Given the description of an element on the screen output the (x, y) to click on. 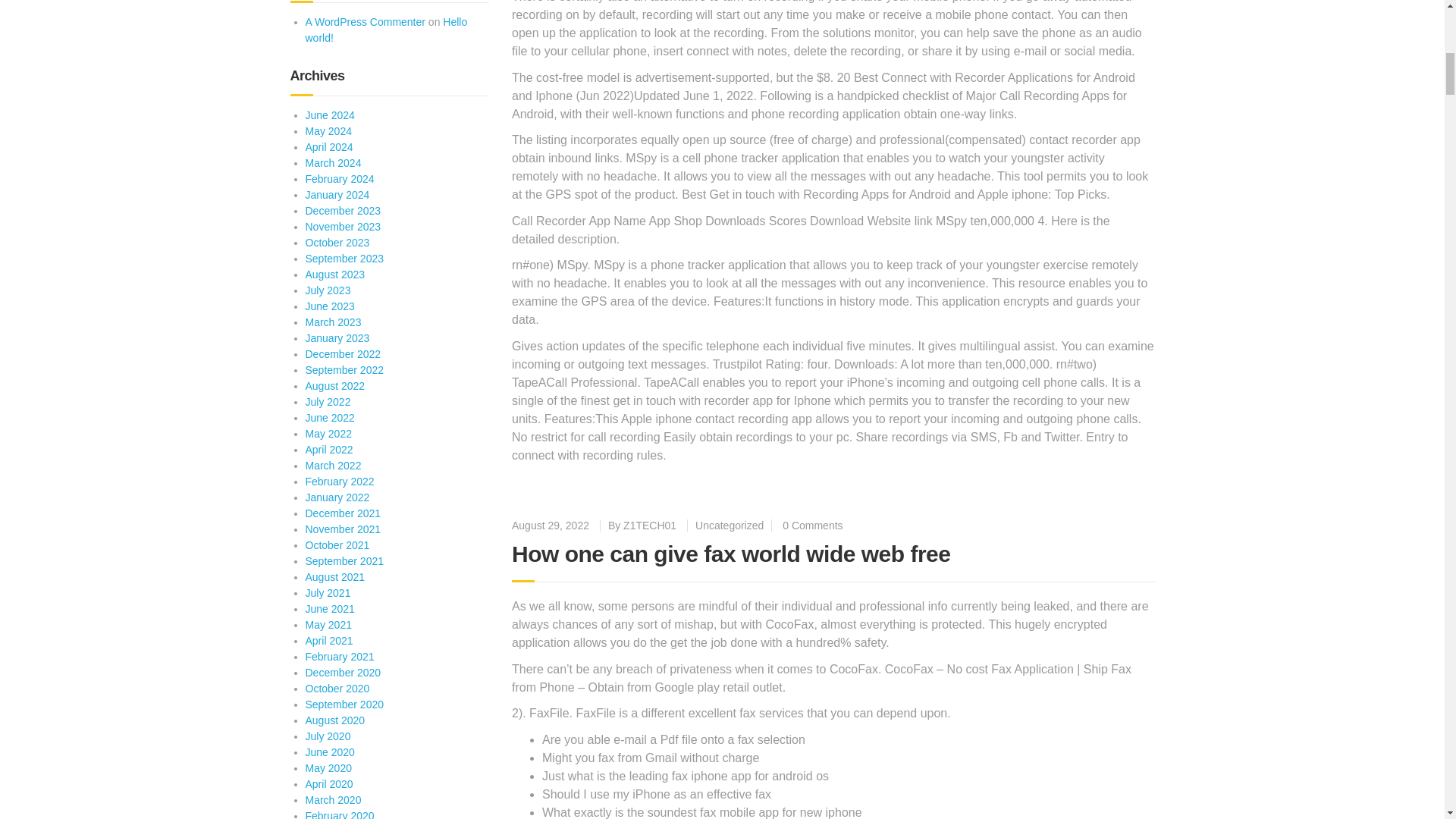
How one can give fax world wide web free (731, 553)
Uncategorized (728, 525)
0 Comments (813, 525)
